Given the description of an element on the screen output the (x, y) to click on. 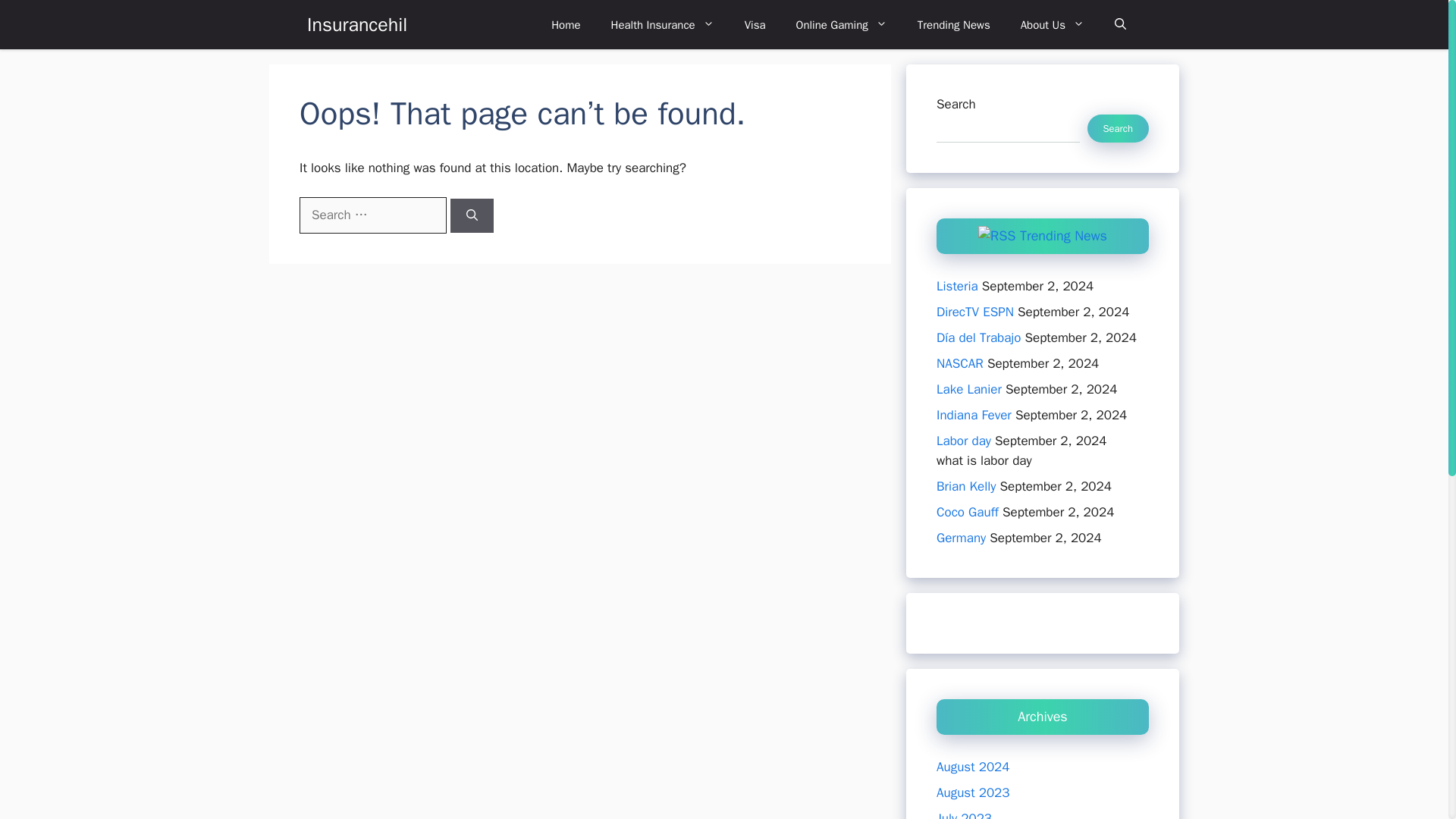
NASCAR (960, 363)
Home (565, 23)
Trending News (1063, 235)
Online Gaming (841, 23)
Trending News (954, 23)
DirecTV ESPN (974, 311)
Insurancehil (357, 24)
Lake Lanier (968, 389)
Visa (754, 23)
Listeria (957, 286)
